Given the description of an element on the screen output the (x, y) to click on. 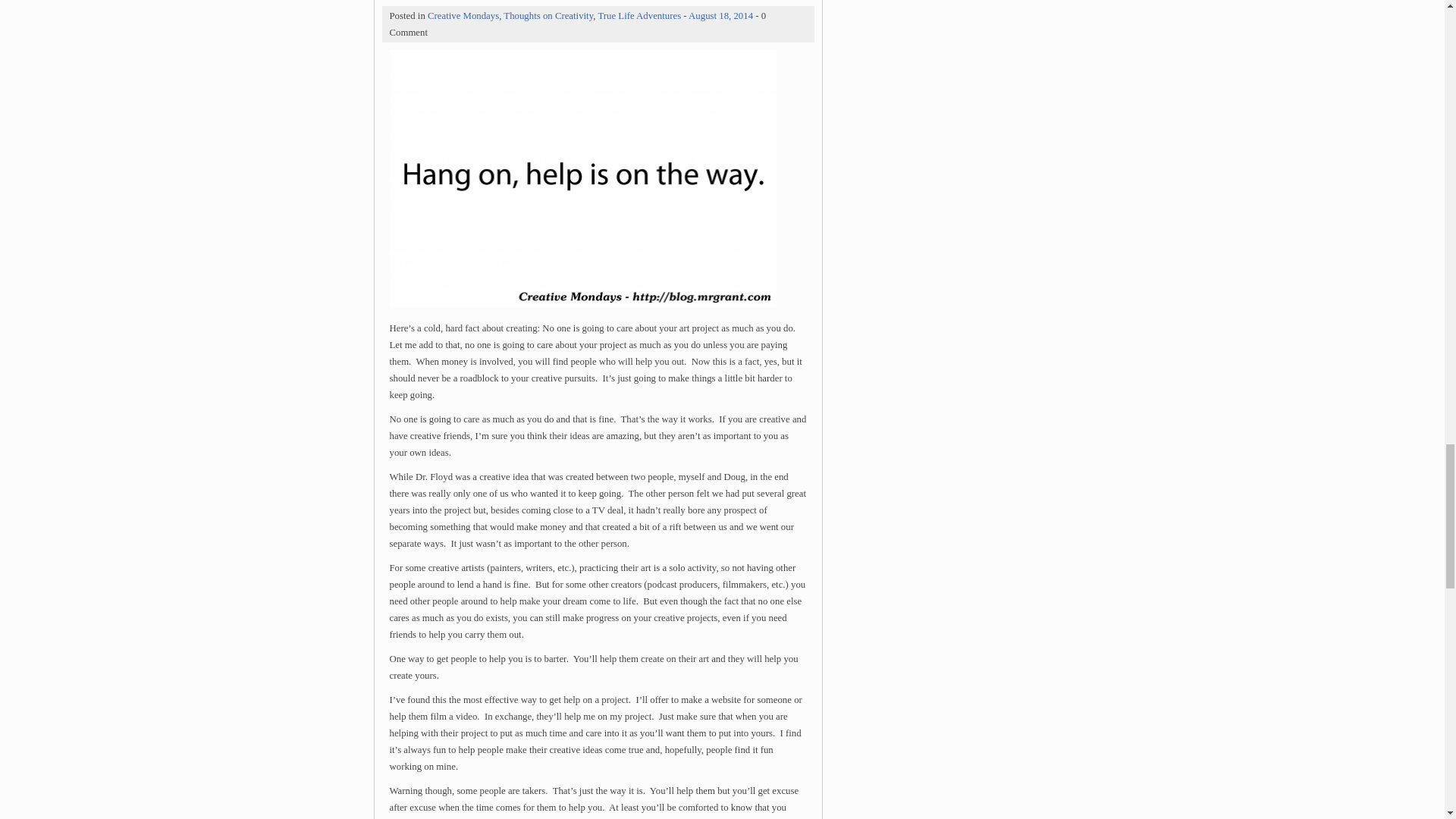
True Life Adventures (638, 15)
Creative Mondays (463, 15)
August 18, 2014 (720, 15)
Thoughts on Creativity (547, 15)
